Given the description of an element on the screen output the (x, y) to click on. 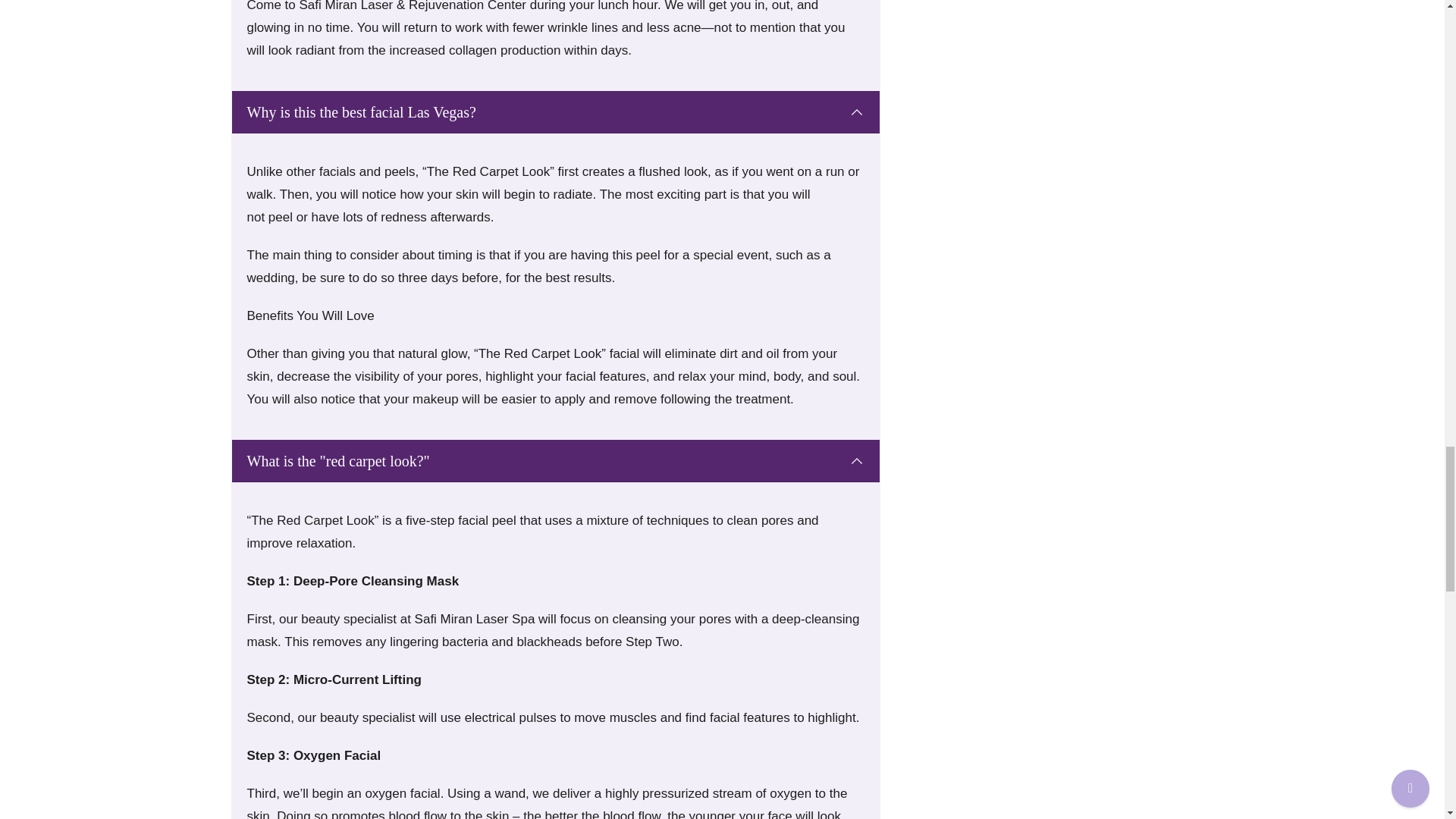
What is the "red carpet look?" (555, 460)
Why is this the best facial Las Vegas? (555, 111)
